Given the description of an element on the screen output the (x, y) to click on. 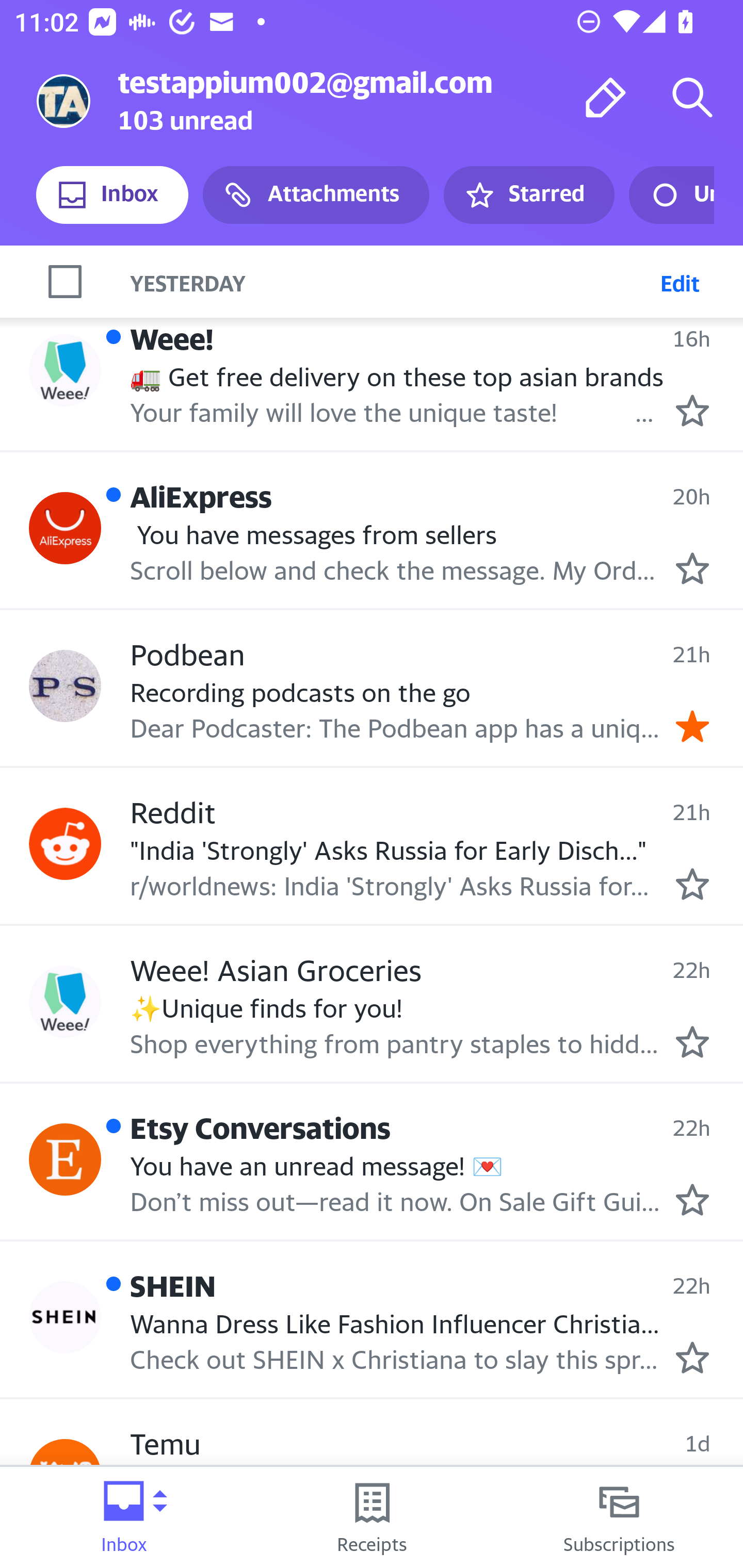
Compose (605, 97)
Search mail (692, 97)
Attachments (315, 195)
Starred (528, 195)
Profile
Weee! (64, 369)
Mark as starred. (692, 410)
Profile
AliExpress (64, 528)
Mark as starred. (692, 568)
Profile
Podbean (64, 685)
Remove star. (692, 726)
Profile
Reddit (64, 843)
Mark as starred. (692, 883)
Profile
Weee! Asian Groceries (64, 1001)
Mark as starred. (692, 1041)
Profile
Etsy Conversations (64, 1158)
Mark as starred. (692, 1200)
Profile
SHEIN (64, 1317)
Mark as starred. (692, 1357)
Inbox Folder picker (123, 1517)
Receipts (371, 1517)
Subscriptions (619, 1517)
